Given the description of an element on the screen output the (x, y) to click on. 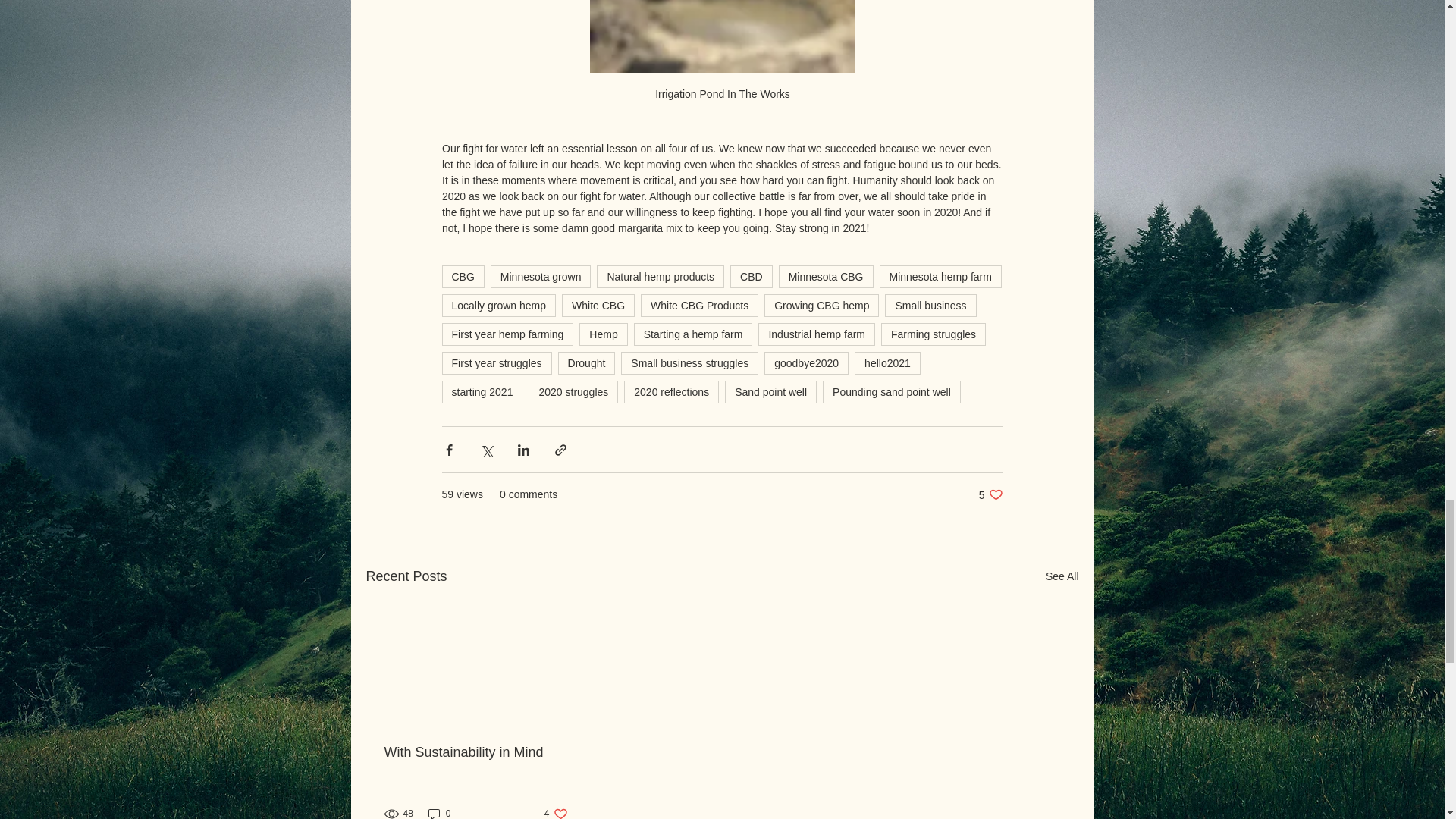
Locally grown hemp (498, 305)
Minnesota CBG (825, 276)
CBG (462, 276)
Hemp (603, 333)
2020 struggles (572, 391)
Growing CBG hemp (821, 305)
Natural hemp products (659, 276)
Drought (586, 363)
Pounding sand point well (891, 391)
CBD (751, 276)
Sand point well (770, 391)
Small business struggles (689, 363)
starting 2021 (481, 391)
Minnesota grown (540, 276)
Industrial hemp farm (816, 333)
